Given the description of an element on the screen output the (x, y) to click on. 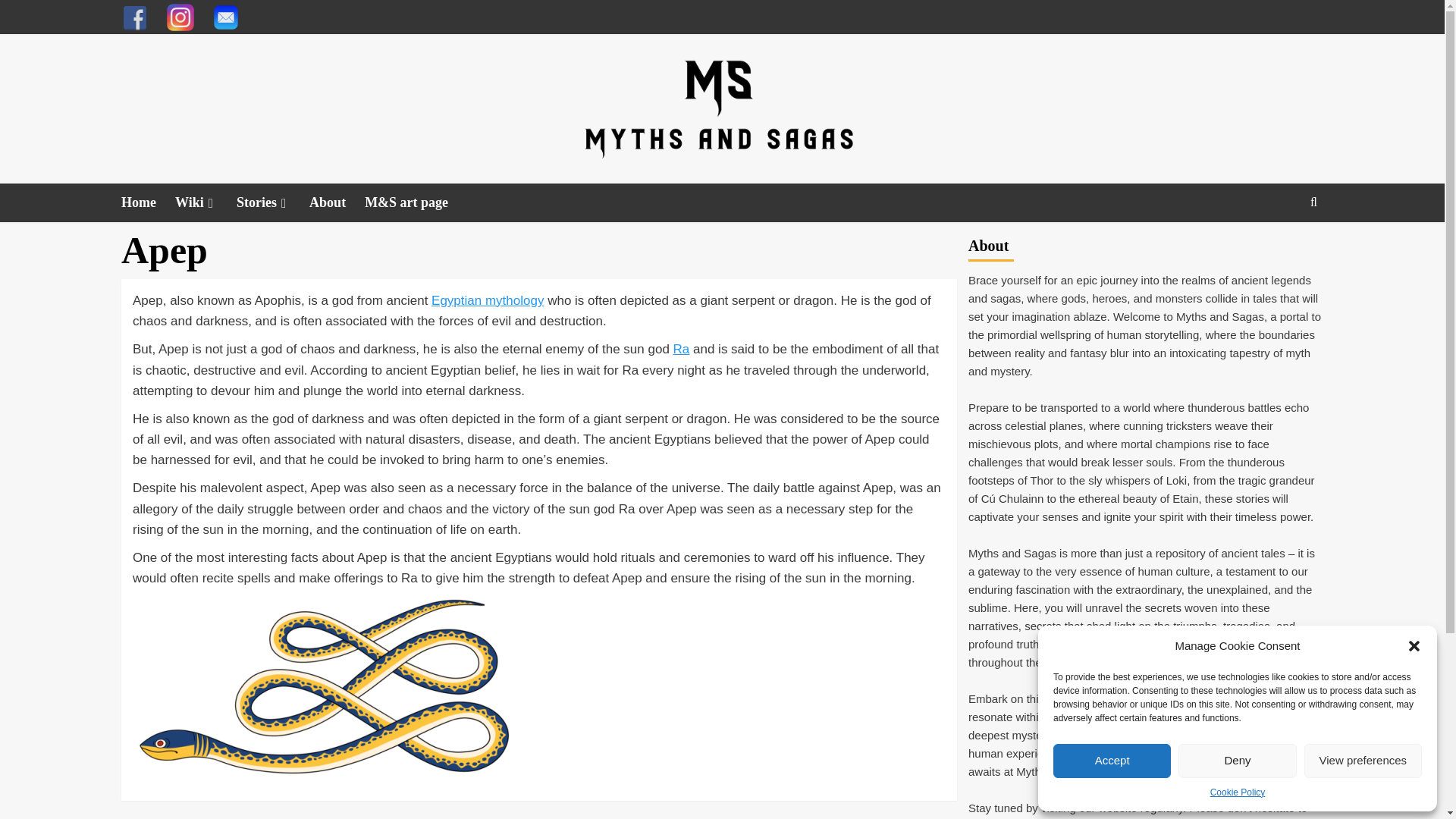
Deny (1236, 760)
View preferences (1363, 760)
Stories (271, 202)
Accept (1111, 760)
Cookie Policy (1237, 792)
Home (147, 202)
About (336, 202)
Wiki (204, 202)
